Given the description of an element on the screen output the (x, y) to click on. 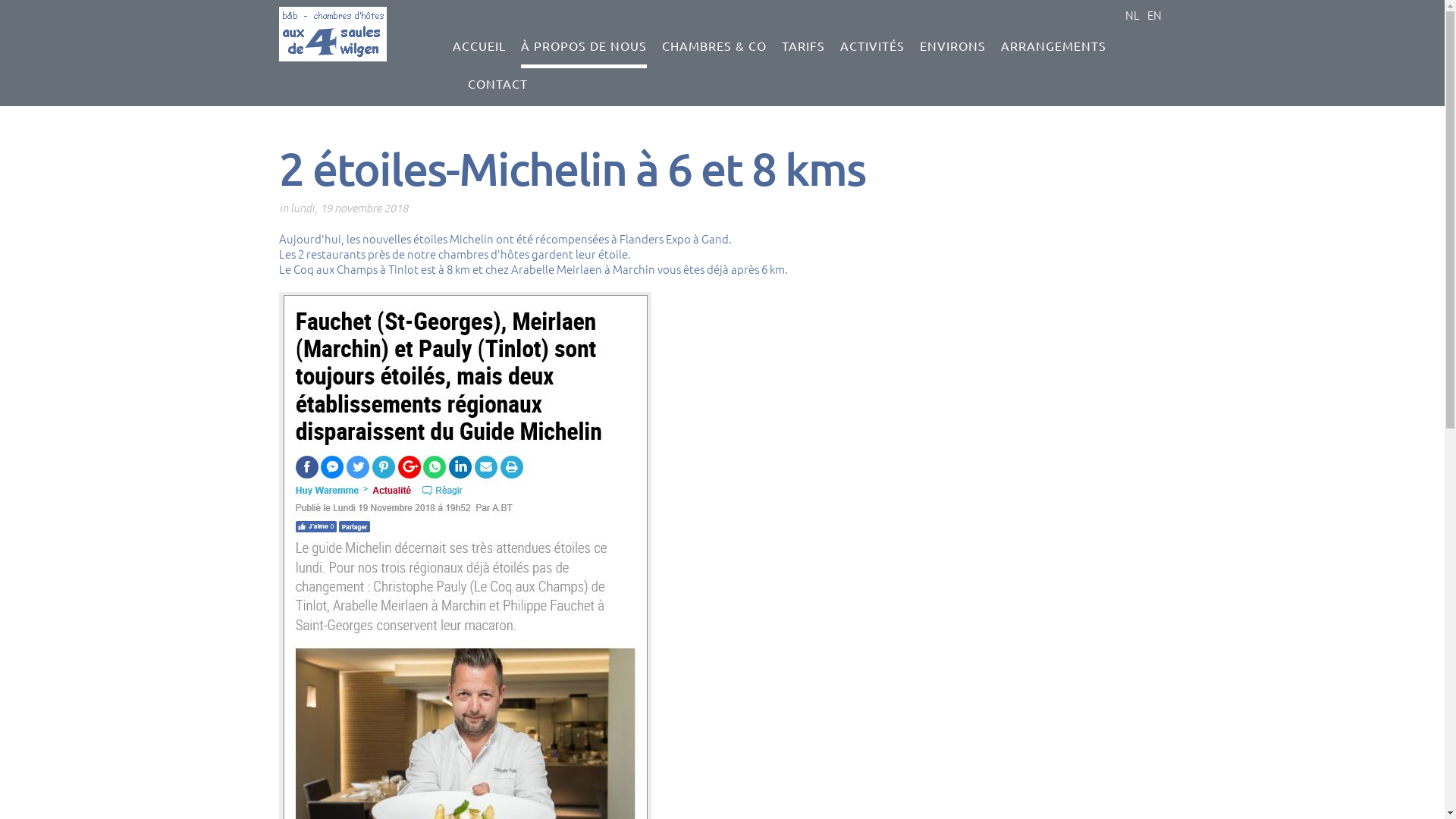
NL Element type: text (1132, 14)
ARRANGEMENTS Element type: text (1053, 49)
ACCUEIL Element type: text (478, 49)
EN Element type: text (1154, 14)
ENVIRONS Element type: text (952, 49)
CONTACT Element type: text (497, 87)
CHAMBRES & CO Element type: text (714, 49)
TARIFS Element type: text (803, 49)
